Given the description of an element on the screen output the (x, y) to click on. 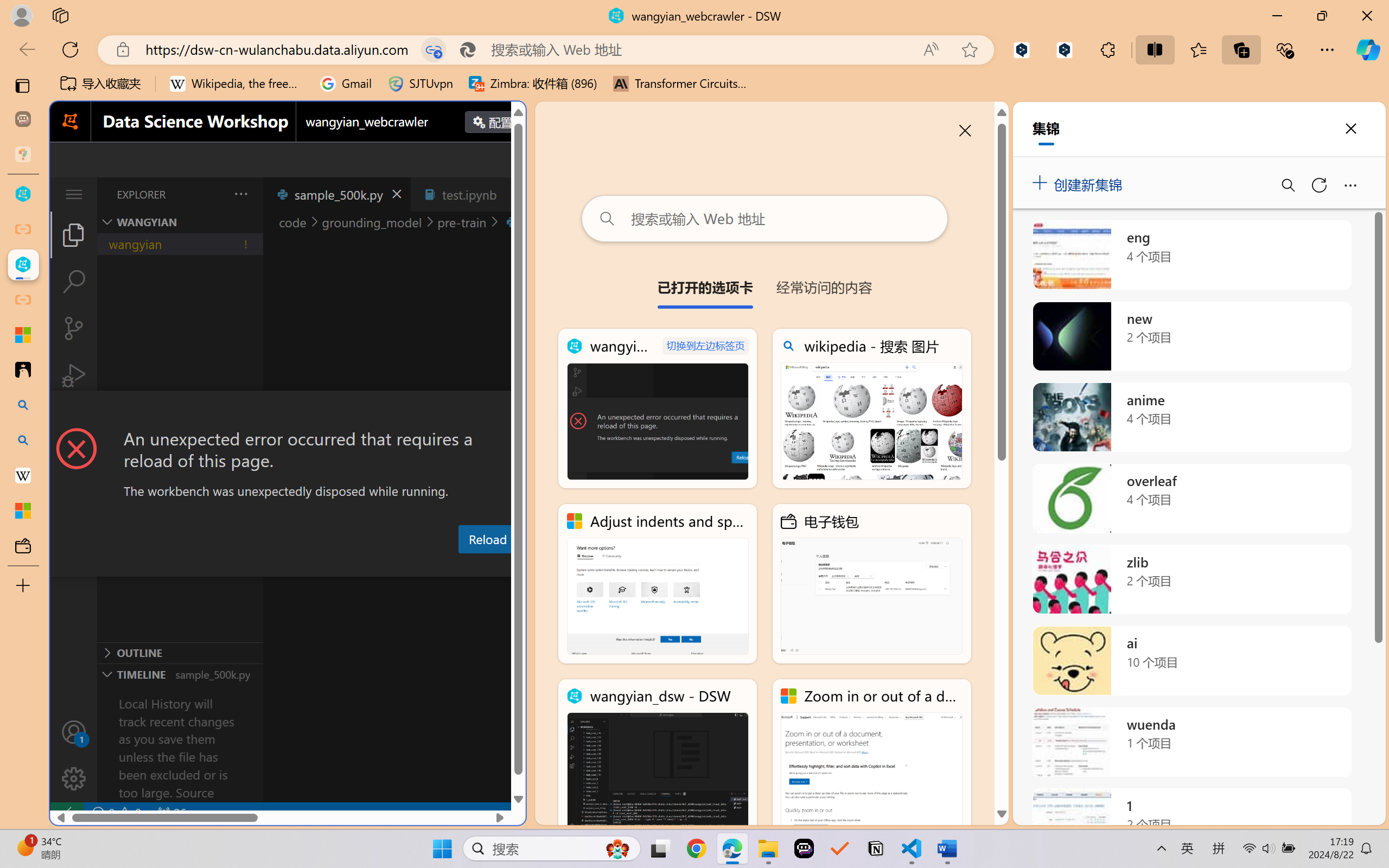
Views and More Actions... (240, 193)
Manage (73, 778)
Accounts - Sign in requested (73, 732)
wangyian_webcrawler - DSW (22, 264)
Earth - Wikipedia (22, 475)
SJTUvpn (419, 83)
